Given the description of an element on the screen output the (x, y) to click on. 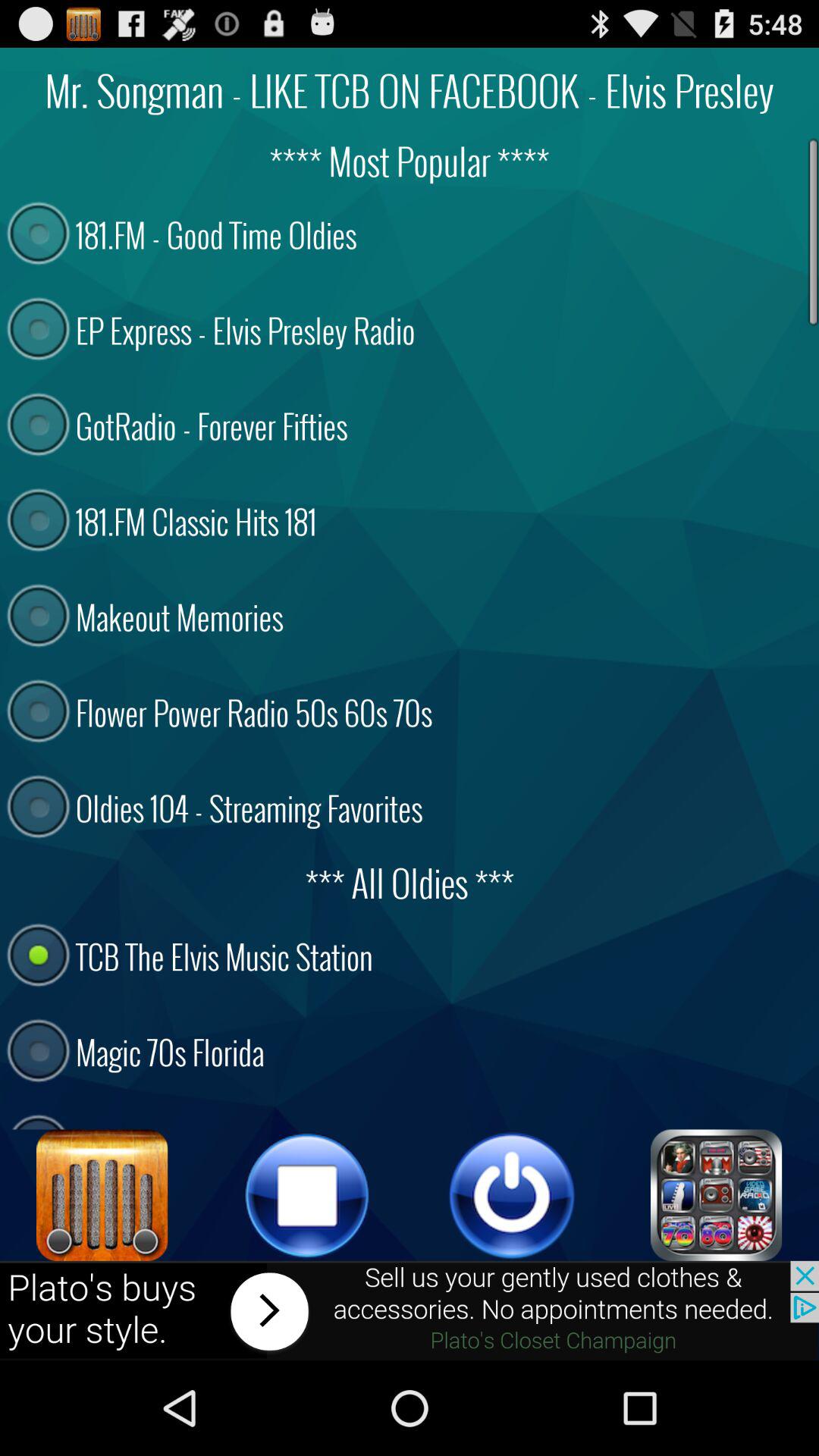
click app (716, 1194)
